Given the description of an element on the screen output the (x, y) to click on. 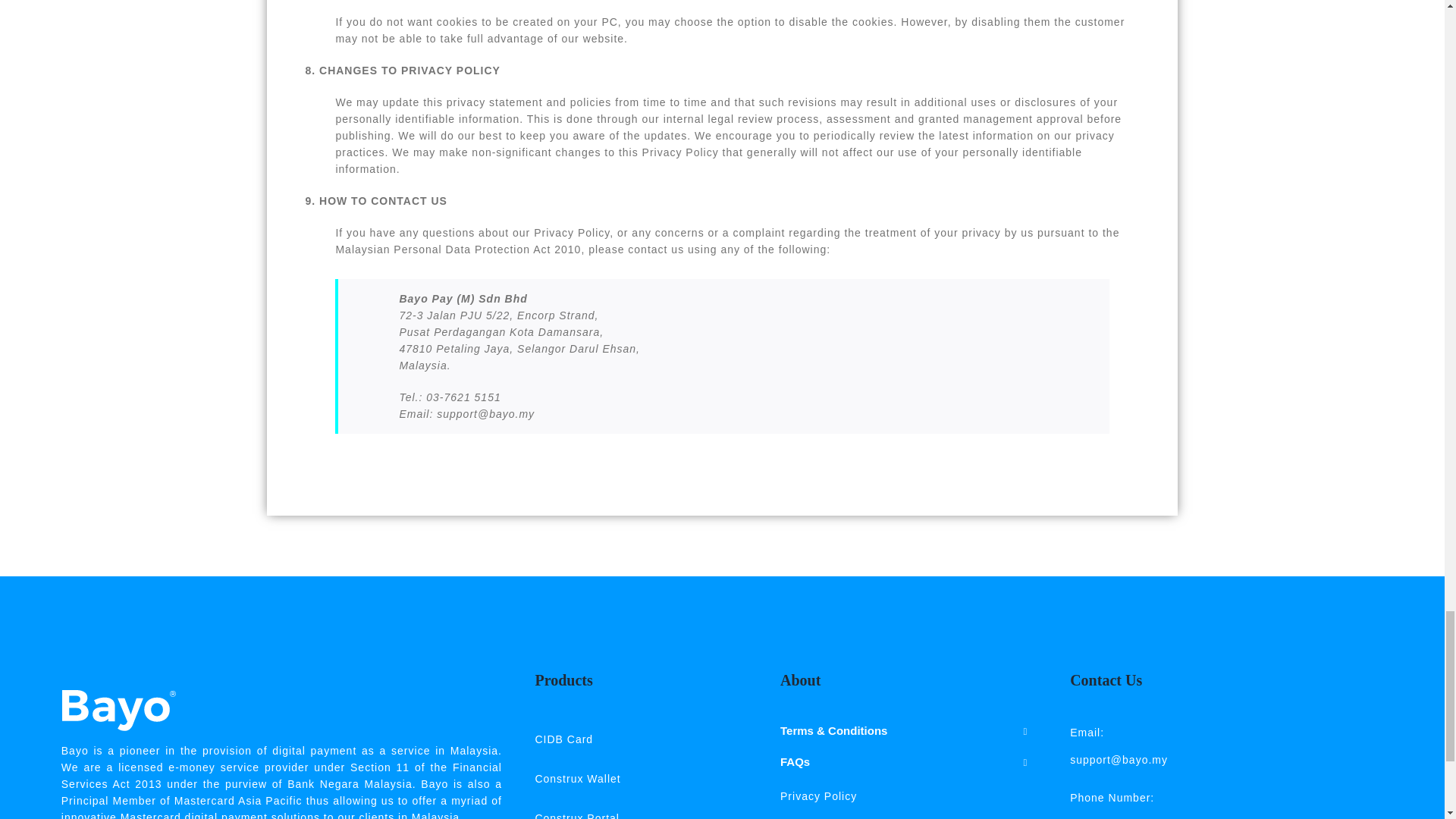
bayo white (118, 710)
